Given the description of an element on the screen output the (x, y) to click on. 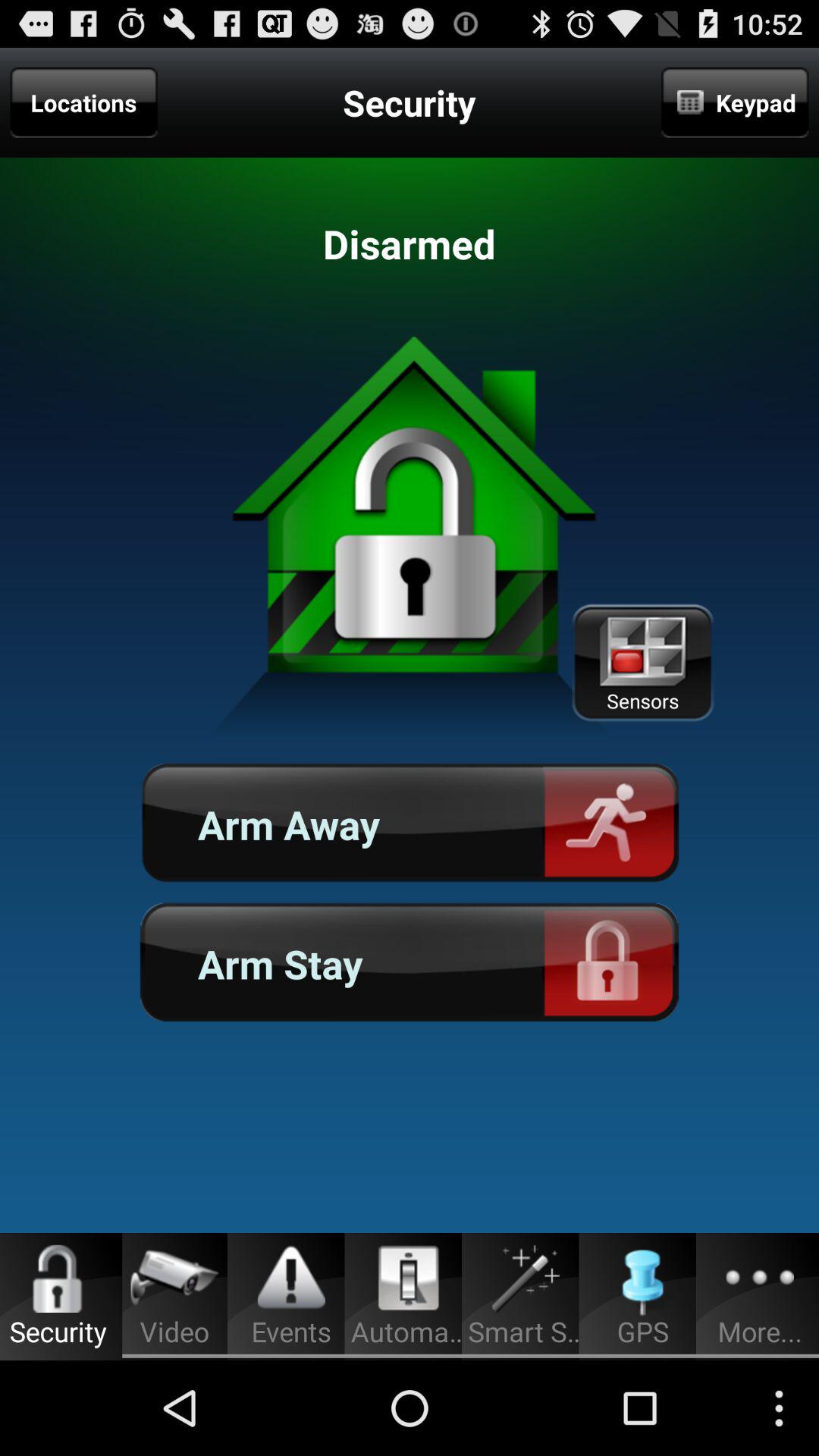
tap arm away item (409, 824)
